Given the description of an element on the screen output the (x, y) to click on. 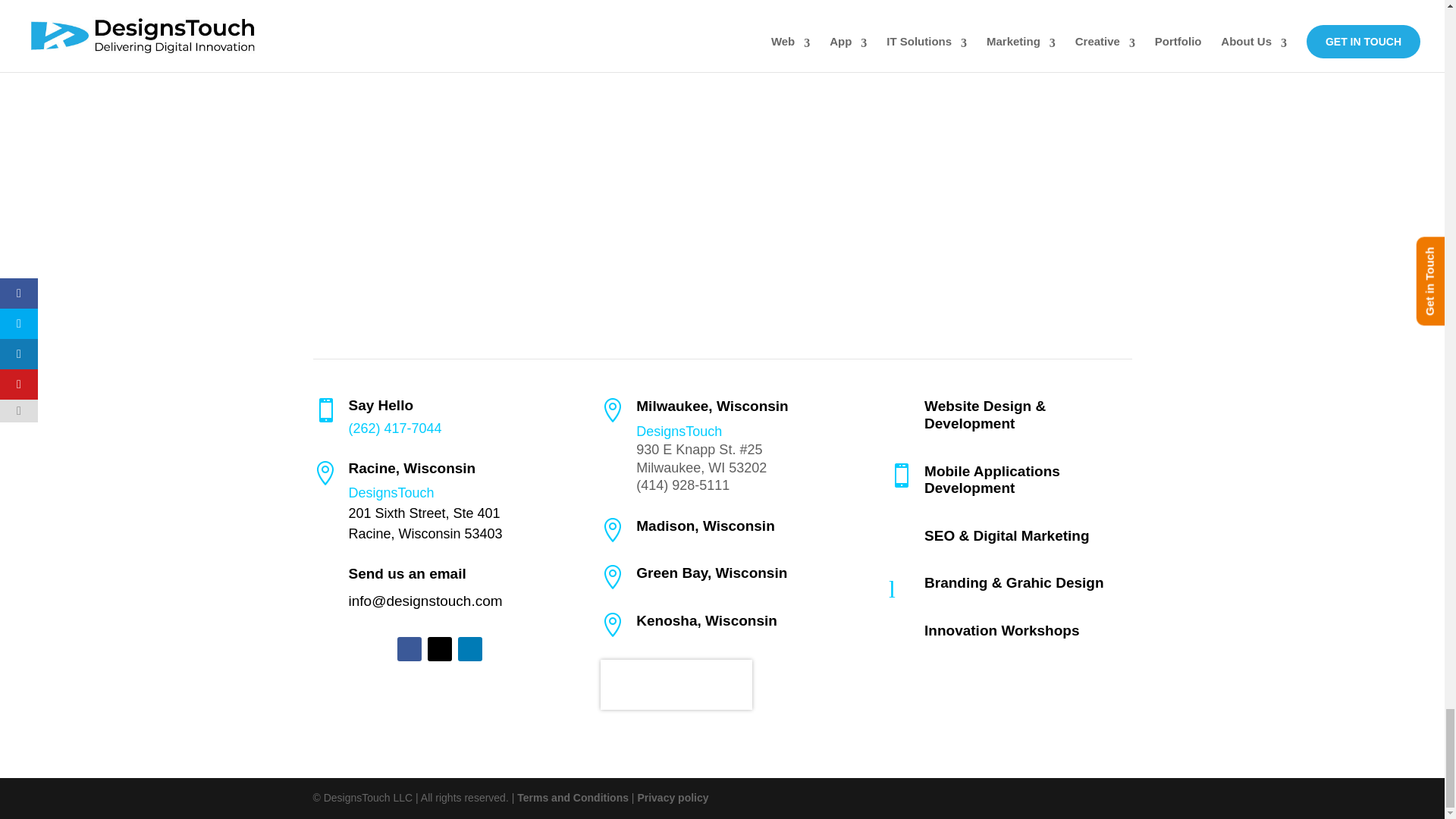
Follow on X (439, 648)
Google Analytics Experts (829, 235)
Google Rating (675, 685)
Follow on LinkedIn (469, 648)
Online-Ad-Agency (613, 247)
GoogleMyBusiness-Services (1027, 227)
Follow on Facebook (409, 648)
Google Partner (398, 251)
